Given the description of an element on the screen output the (x, y) to click on. 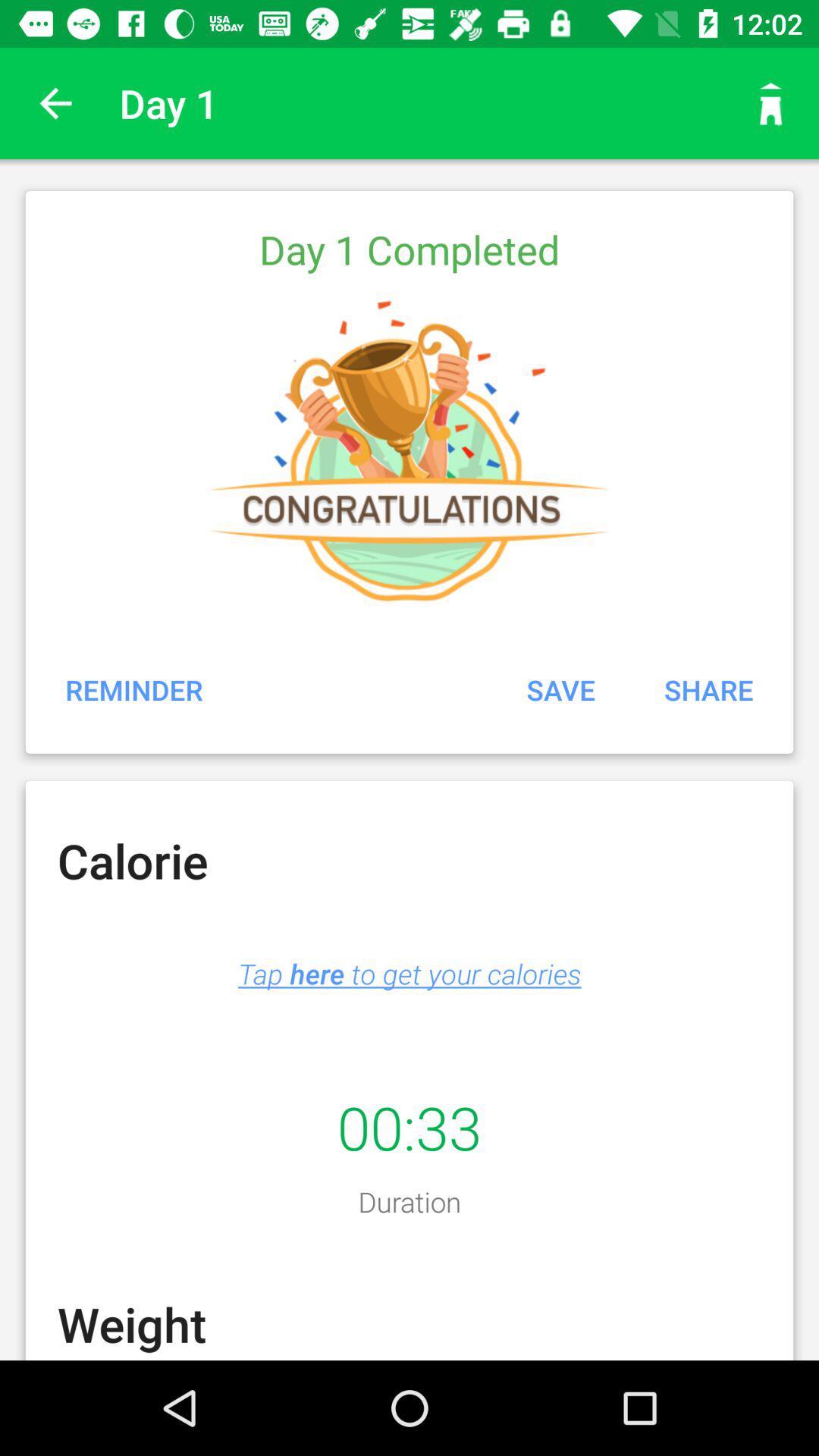
scroll to the tap here to item (409, 973)
